Given the description of an element on the screen output the (x, y) to click on. 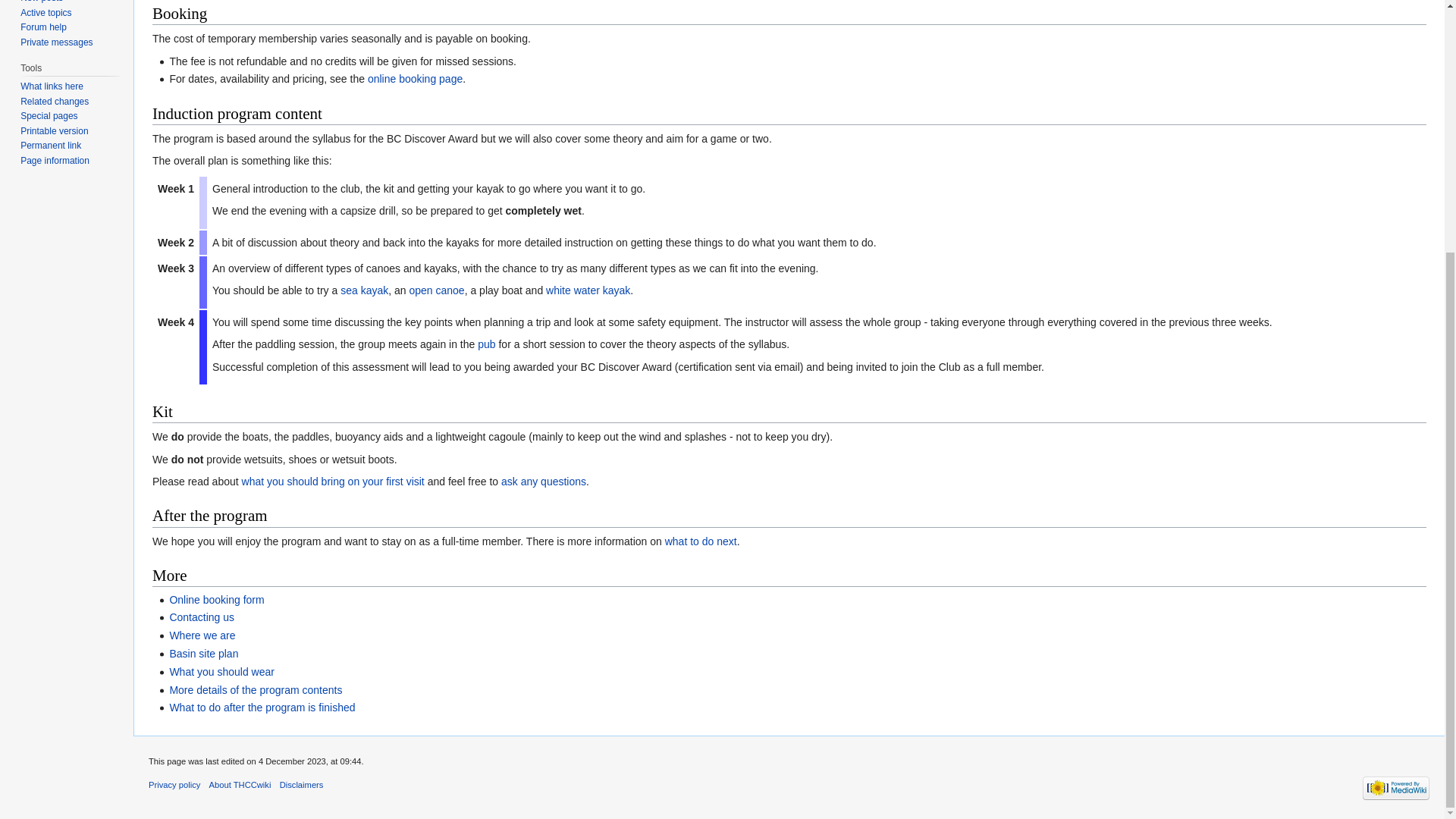
Online booking form (215, 599)
Course for beginners - What next (261, 707)
sea kayak (364, 290)
Sea kayaking (364, 290)
Contacting us (201, 616)
Prospect of Whitby (486, 344)
What to do after the program is finished (261, 707)
What you should wear (221, 671)
Location (201, 635)
what to do next (700, 541)
